Given the description of an element on the screen output the (x, y) to click on. 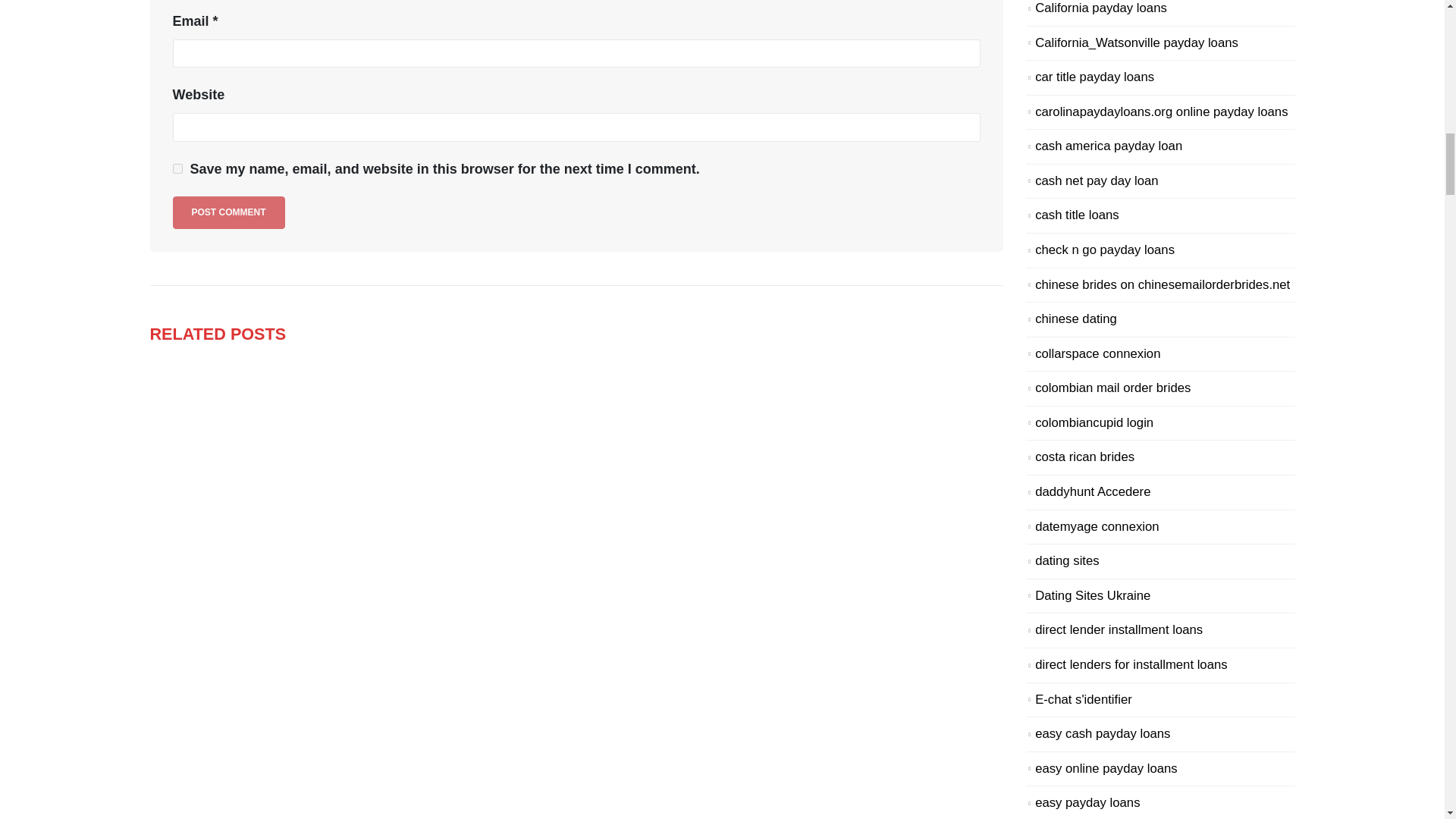
yes (178, 168)
Post Comment (229, 212)
Post Comment (229, 212)
